Given the description of an element on the screen output the (x, y) to click on. 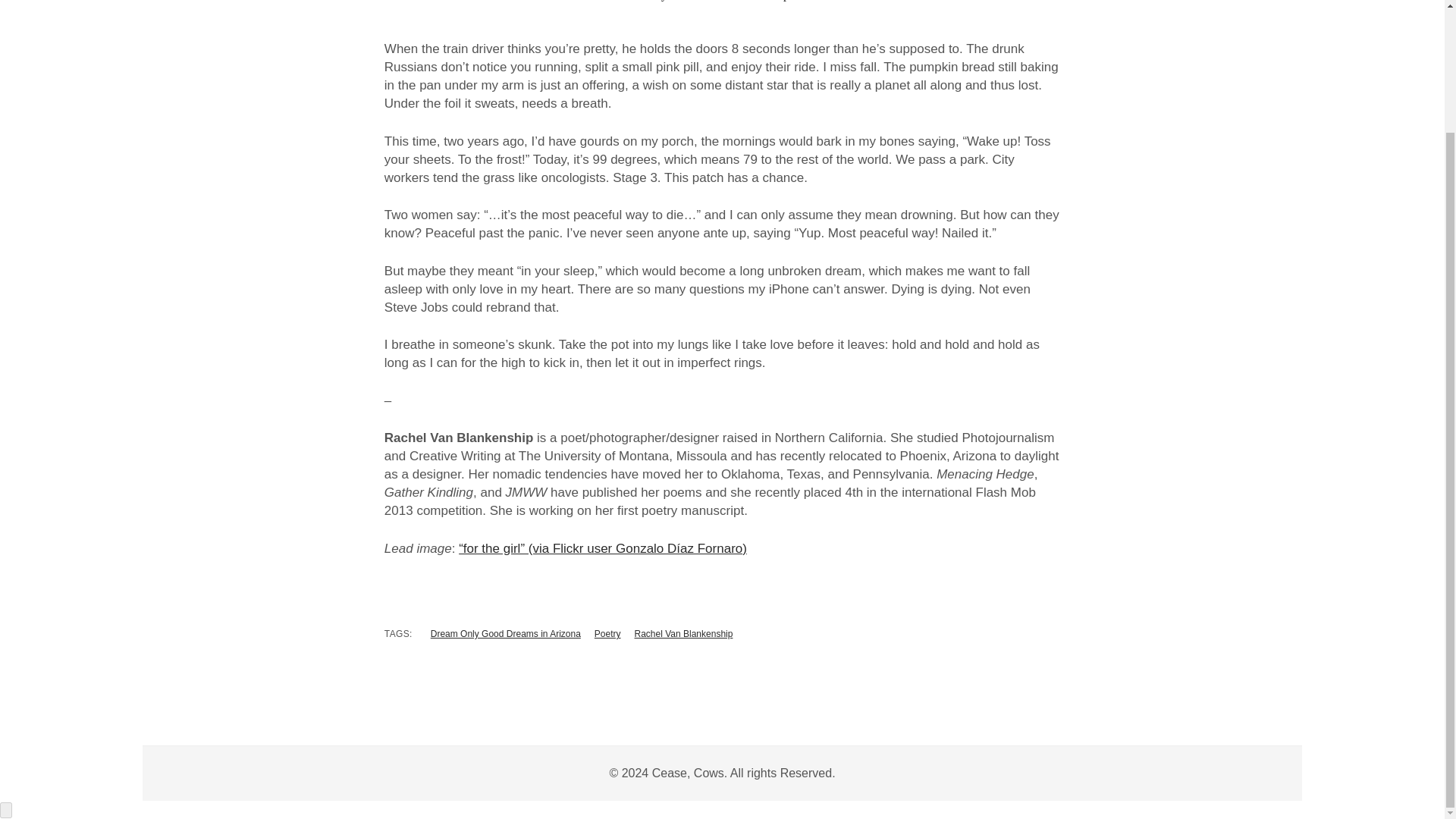
Scroll to the top (5, 810)
Dream Only Good Dreams in Arizona (505, 633)
Scroll to the top (5, 810)
View all posts tagged Rachel Van Blankenship (683, 633)
View all posts tagged Dream Only Good Dreams in Arizona (505, 633)
Rachel Van Blankenship (683, 633)
View all posts tagged Poetry (607, 633)
Poetry (607, 633)
